Given the description of an element on the screen output the (x, y) to click on. 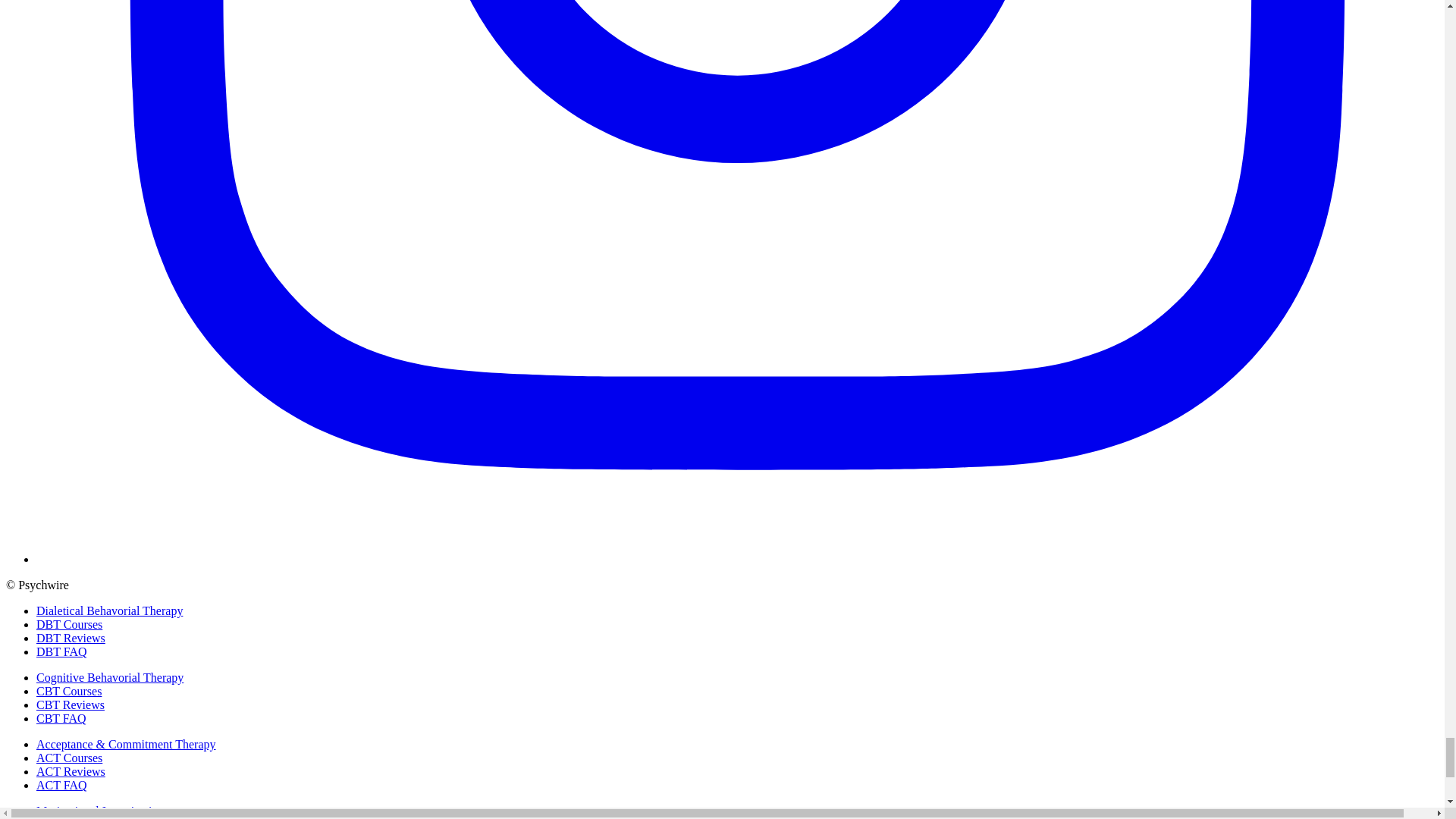
DBT Courses (68, 624)
CBT Courses (68, 690)
ACT Courses (68, 757)
DBT Reviews (70, 637)
ACT FAQ (61, 784)
CBT FAQ (60, 717)
ACT Reviews (70, 771)
Cognitive Behavorial Therapy (109, 676)
CBT Reviews (70, 704)
DBT FAQ (61, 651)
Motivational Interviewing (99, 810)
Dialetical Behavorial Therapy (109, 610)
